Given the description of an element on the screen output the (x, y) to click on. 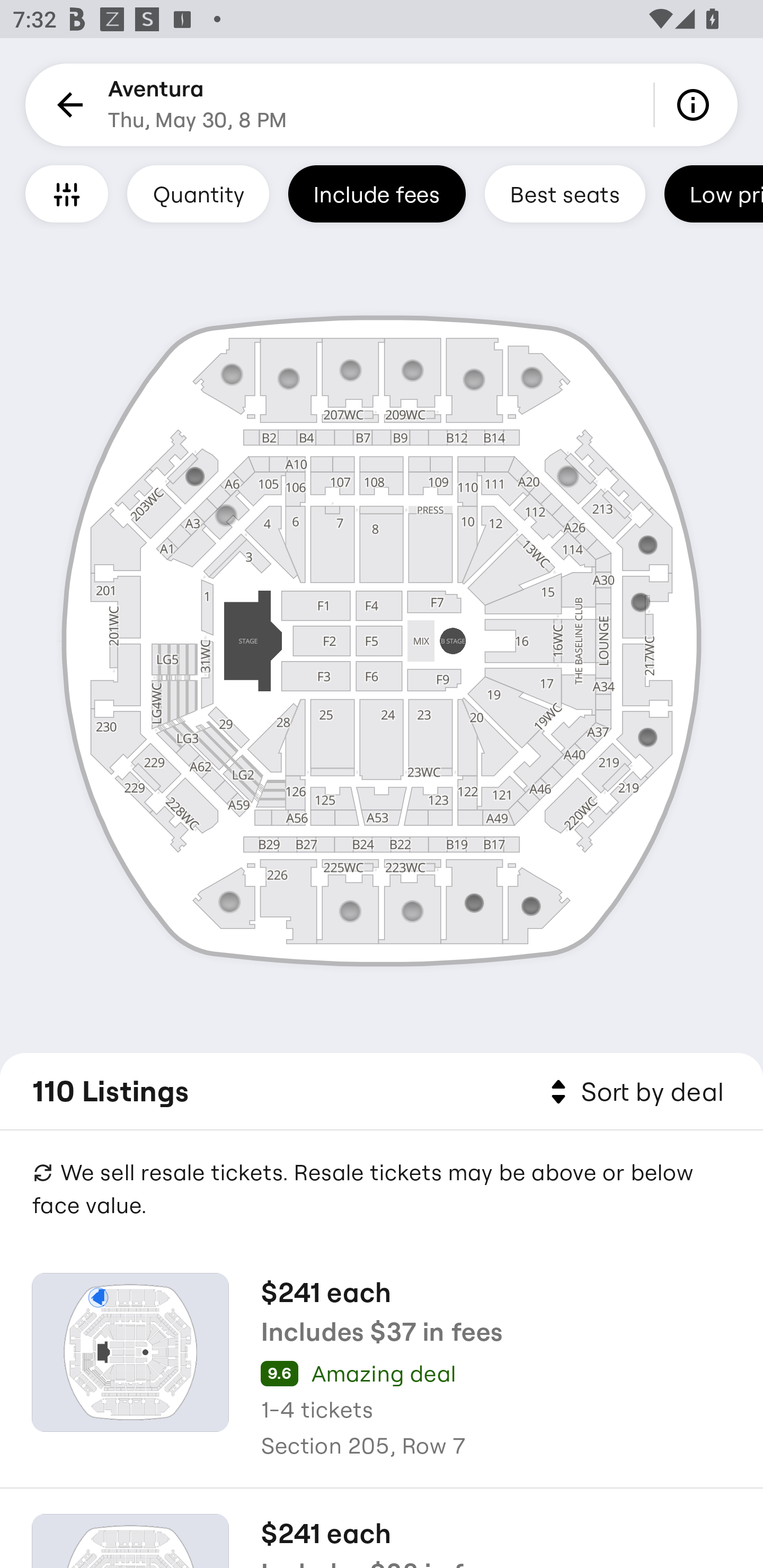
Back (66, 104)
Aventura Thu, May 30, 8 PM (197, 104)
Info (695, 104)
Filters and Accessible Seating (66, 193)
Quantity (198, 193)
Include fees (376, 193)
Best seats (564, 193)
Sort by deal (633, 1091)
